Given the description of an element on the screen output the (x, y) to click on. 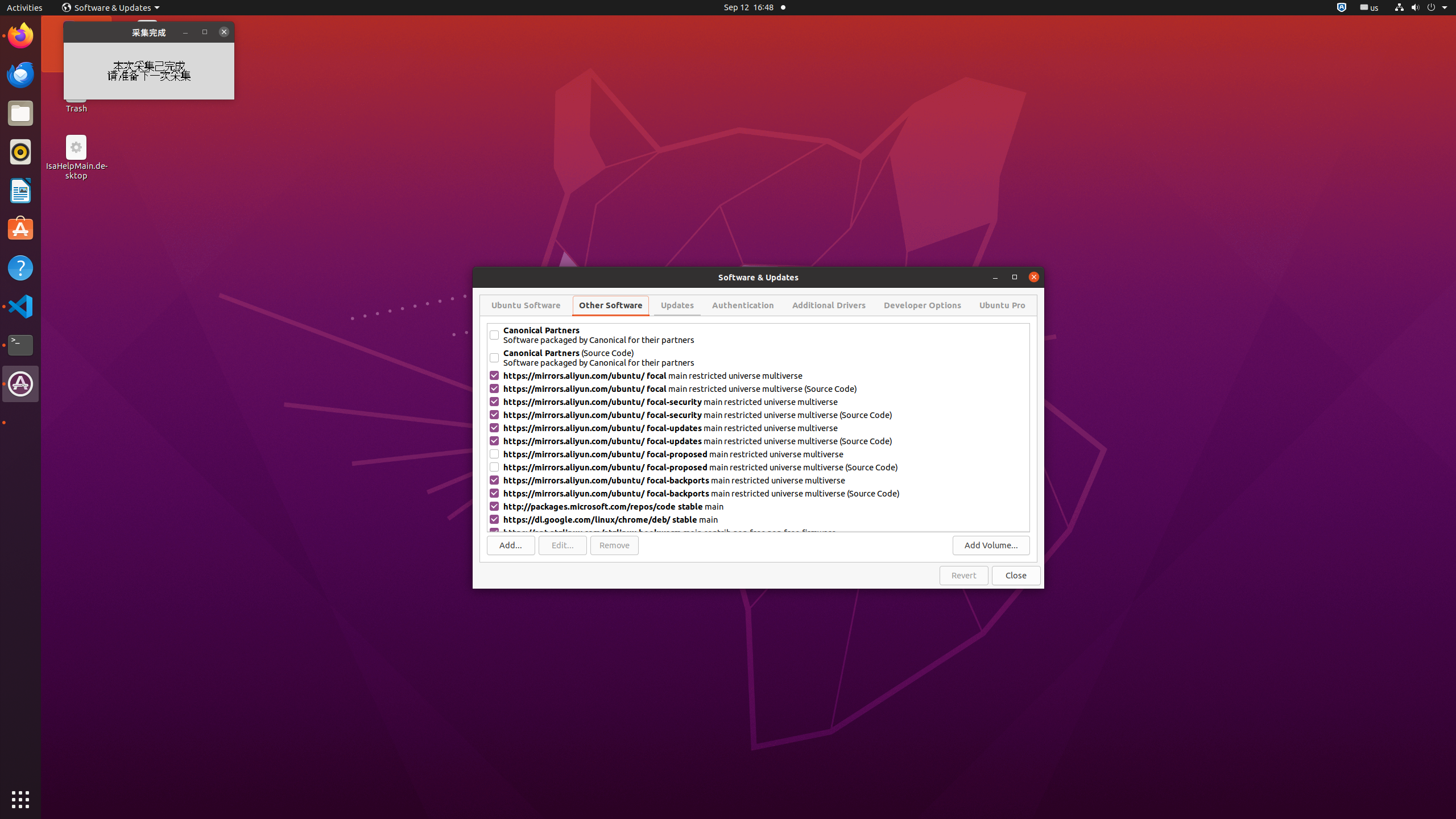
https://mirrors.aliyun.com/ubuntu/ focal-updates main restricted universe multiverse Element type: table-cell (765, 427)
Other Software Element type: page-tab (610, 304)
http://packages.microsoft.com/repos/code stable main Element type: table-cell (765, 506)
Software & Updates Element type: push-button (20, 383)
https://mirrors.aliyun.com/ubuntu/ focal-updates main restricted universe multiverse (Source Code) Element type: table-cell (765, 441)
